Given the description of an element on the screen output the (x, y) to click on. 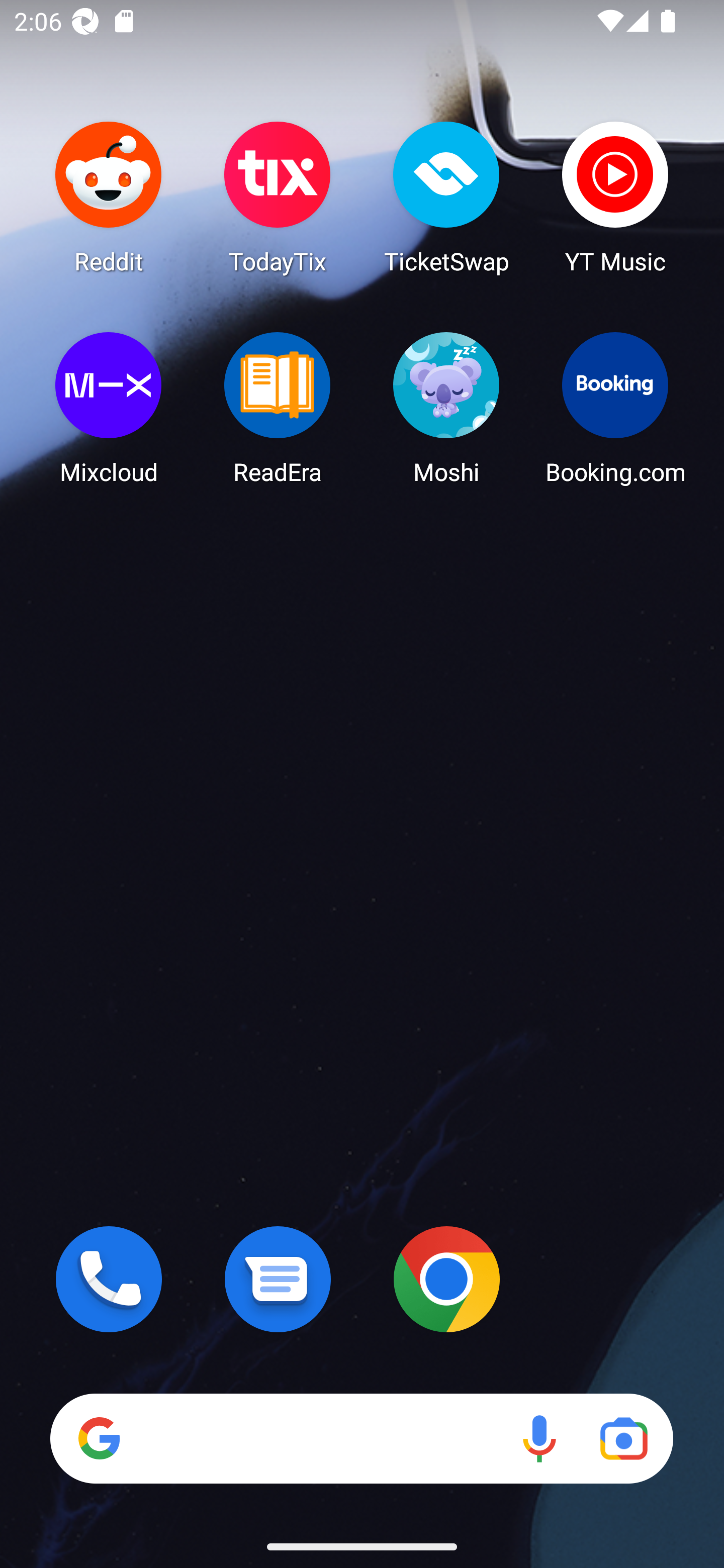
Reddit (108, 196)
TodayTix (277, 196)
TicketSwap (445, 196)
YT Music (615, 196)
Mixcloud (108, 407)
ReadEra (277, 407)
Moshi (445, 407)
Booking.com (615, 407)
Phone (108, 1279)
Messages (277, 1279)
Chrome (446, 1279)
Search Voice search Google Lens (361, 1438)
Voice search (539, 1438)
Google Lens (623, 1438)
